Given the description of an element on the screen output the (x, y) to click on. 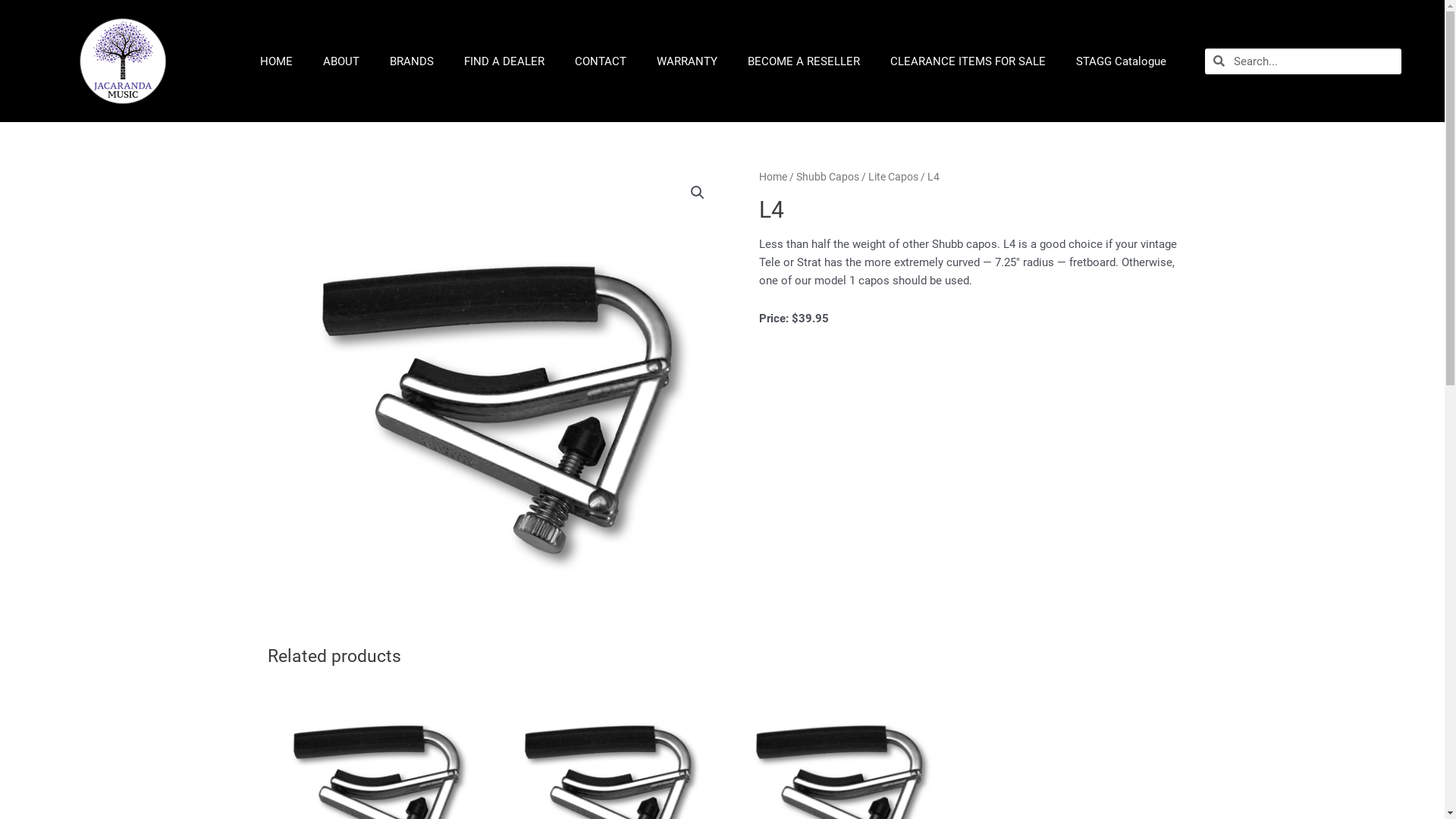
BECOME A RESELLER Element type: text (803, 60)
CONTACT Element type: text (600, 60)
BRANDS Element type: text (411, 60)
Home Element type: text (772, 176)
WARRANTY Element type: text (686, 60)
Lite Capos Element type: text (892, 176)
L1-Silver.jpg Element type: hover (493, 394)
FIND A DEALER Element type: text (503, 60)
Shubb Capos Element type: text (827, 176)
HOME Element type: text (275, 60)
ABOUT Element type: text (340, 60)
STAGG Catalogue Element type: text (1120, 60)
CLEARANCE ITEMS FOR SALE Element type: text (967, 60)
